Given the description of an element on the screen output the (x, y) to click on. 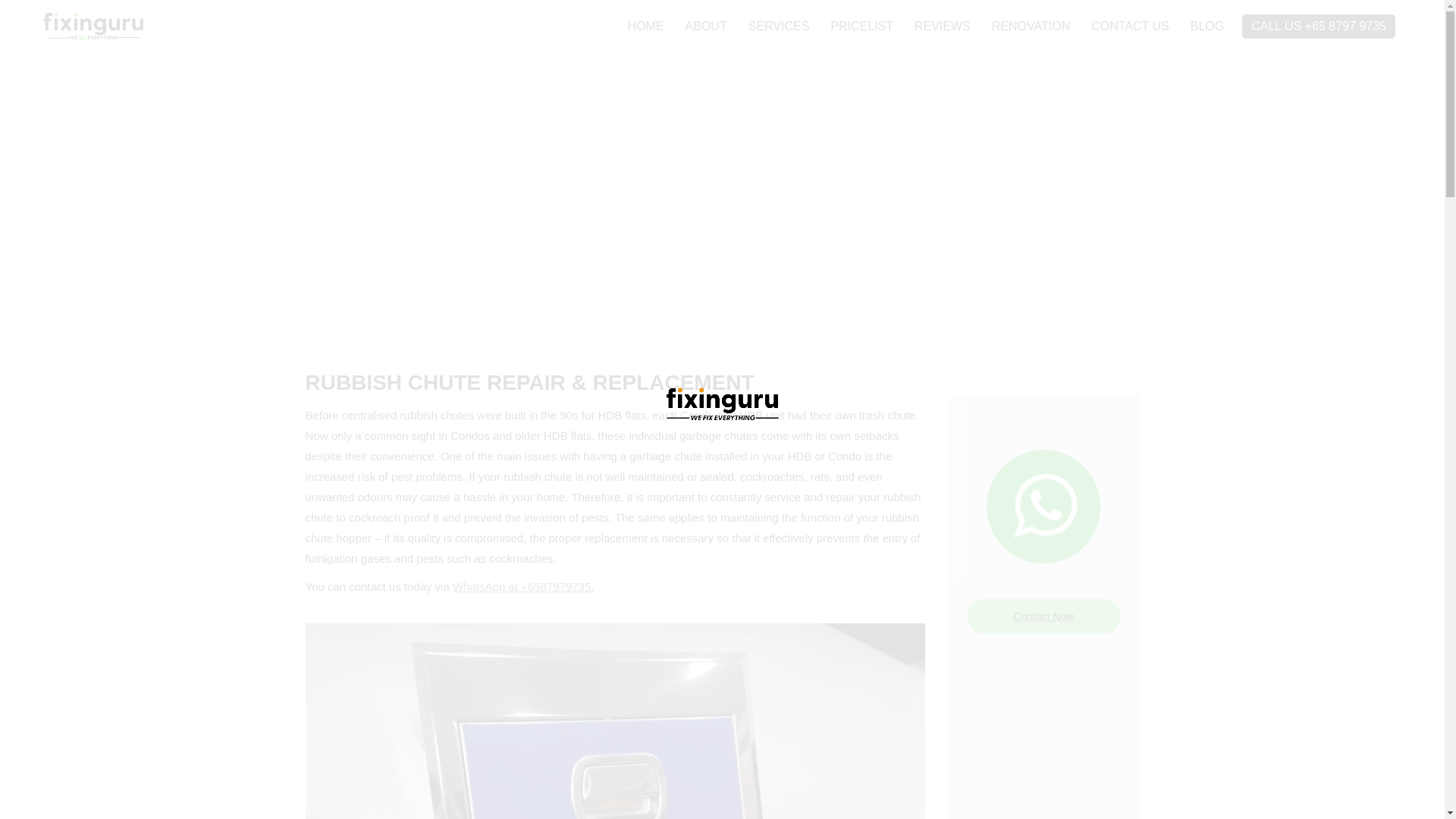
BLOG (1207, 25)
CONTACT US (1129, 25)
REVIEWS (942, 25)
RENOVATION (1030, 25)
rubbish-chute (614, 721)
ABOUT (706, 25)
PRICELIST (861, 25)
SERVICES (778, 25)
HOME (645, 25)
